Given the description of an element on the screen output the (x, y) to click on. 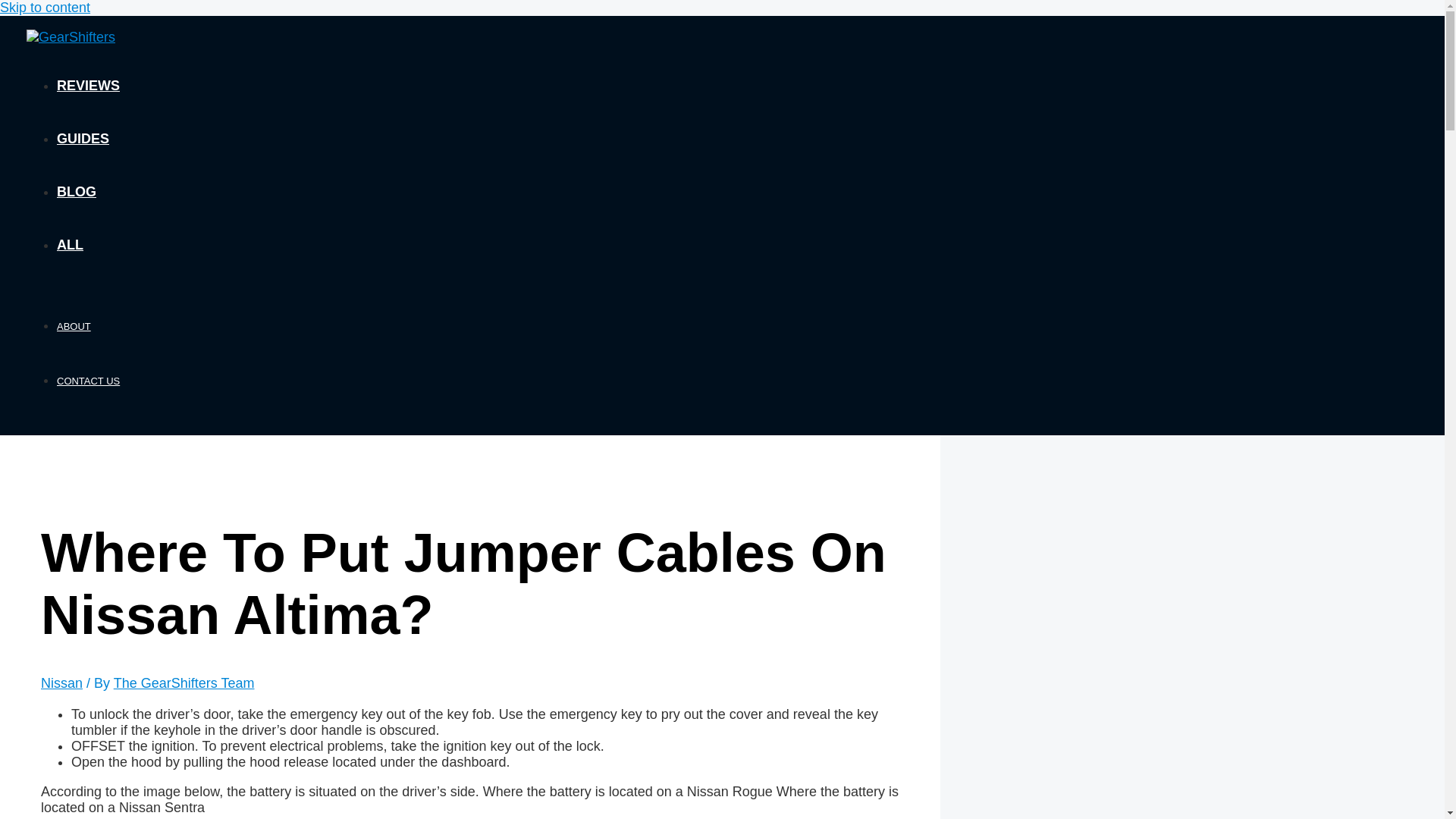
REVIEWS (87, 85)
Skip to content (45, 7)
ALL (69, 244)
The GearShifters Team (183, 683)
Nissan (61, 683)
GUIDES (82, 138)
ABOUT (73, 326)
Skip to content (45, 7)
BLOG (76, 191)
CONTACT US (87, 380)
View all posts by The GearShifters Team (183, 683)
